Given the description of an element on the screen output the (x, y) to click on. 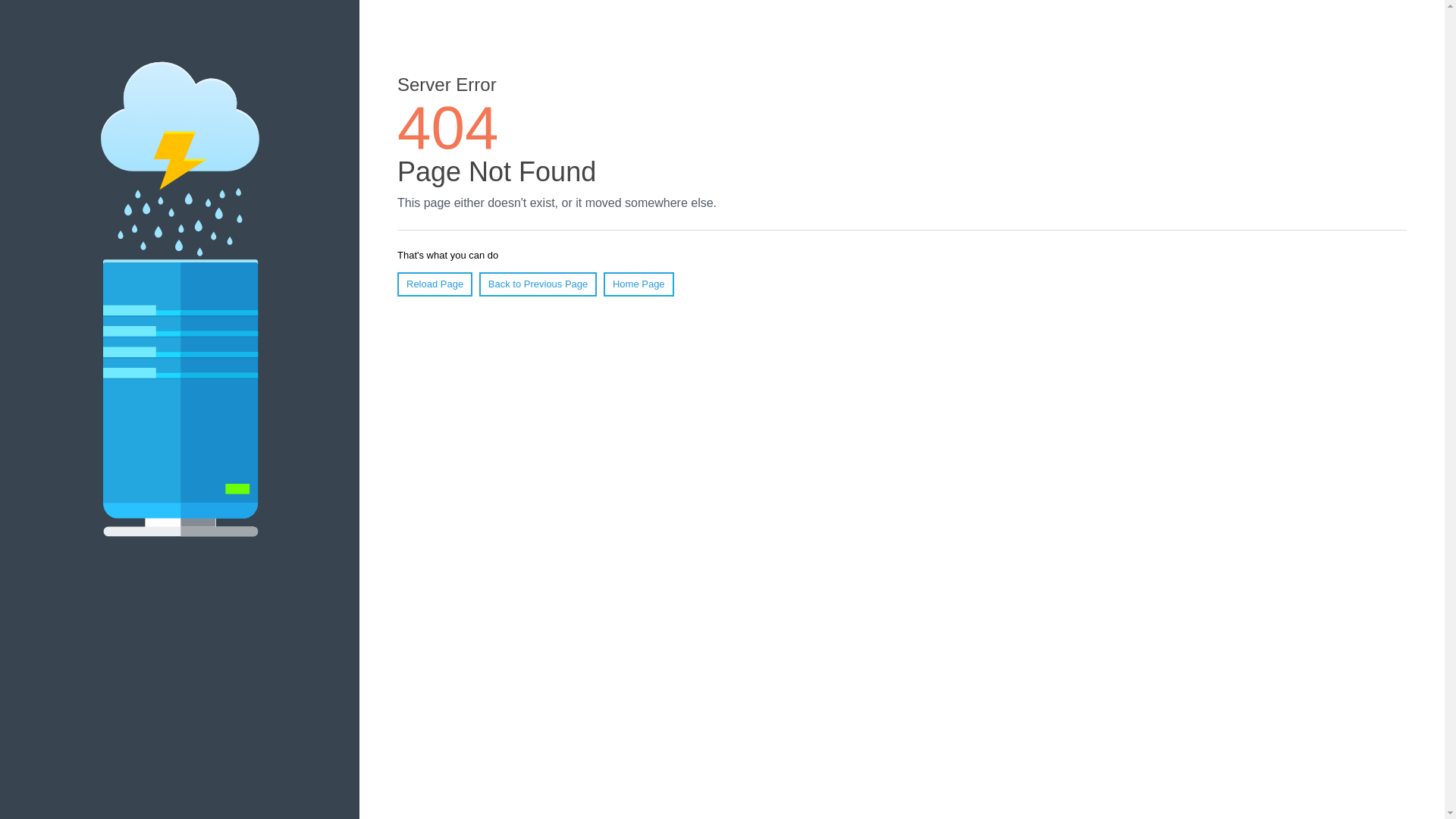
Back to Previous Page Element type: text (538, 284)
Reload Page Element type: text (434, 284)
Home Page Element type: text (638, 284)
